Given the description of an element on the screen output the (x, y) to click on. 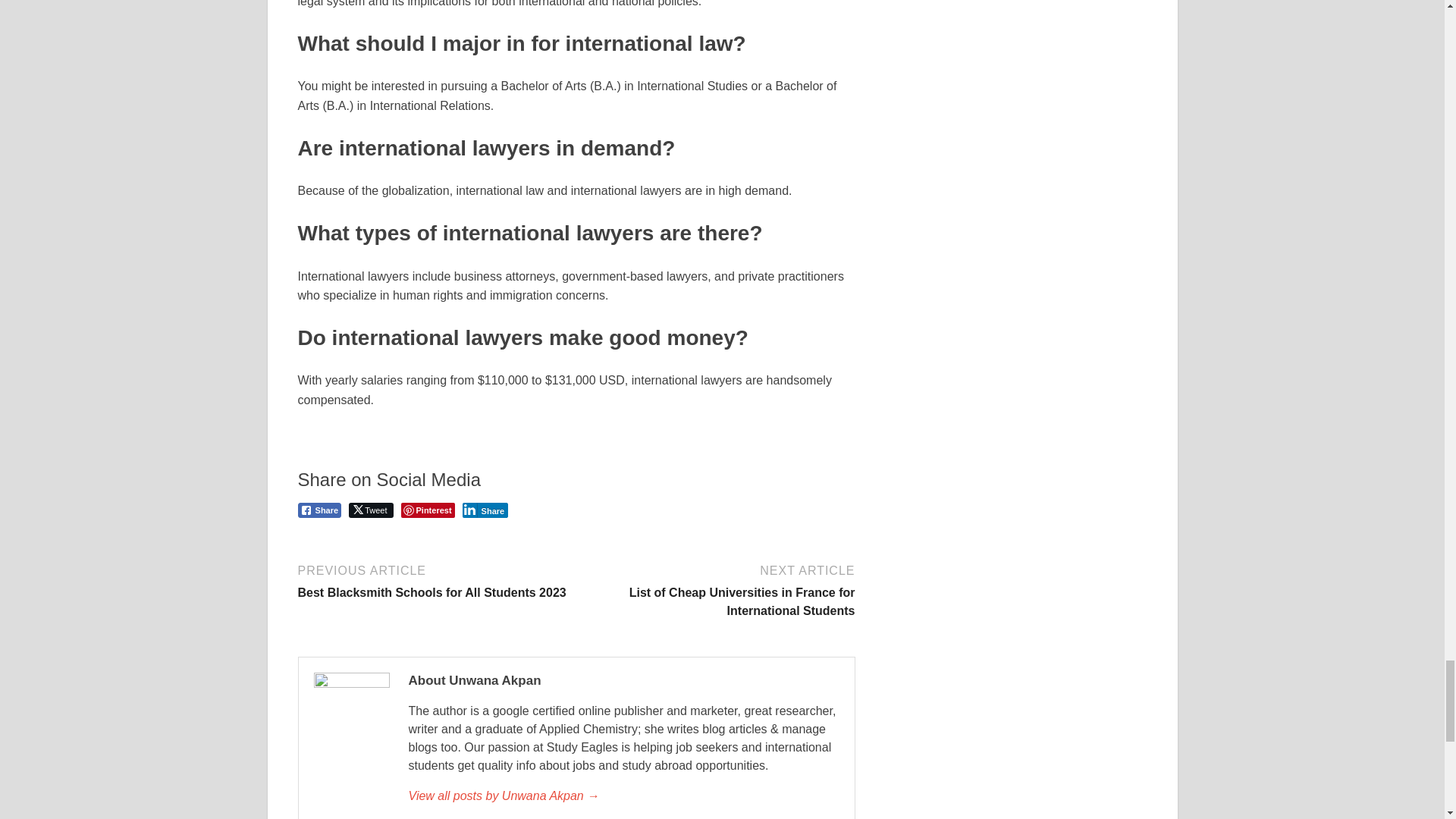
Share (485, 509)
Unwana Akpan (622, 796)
Share (318, 509)
Tweet (371, 509)
Pinterest (427, 509)
